Given the description of an element on the screen output the (x, y) to click on. 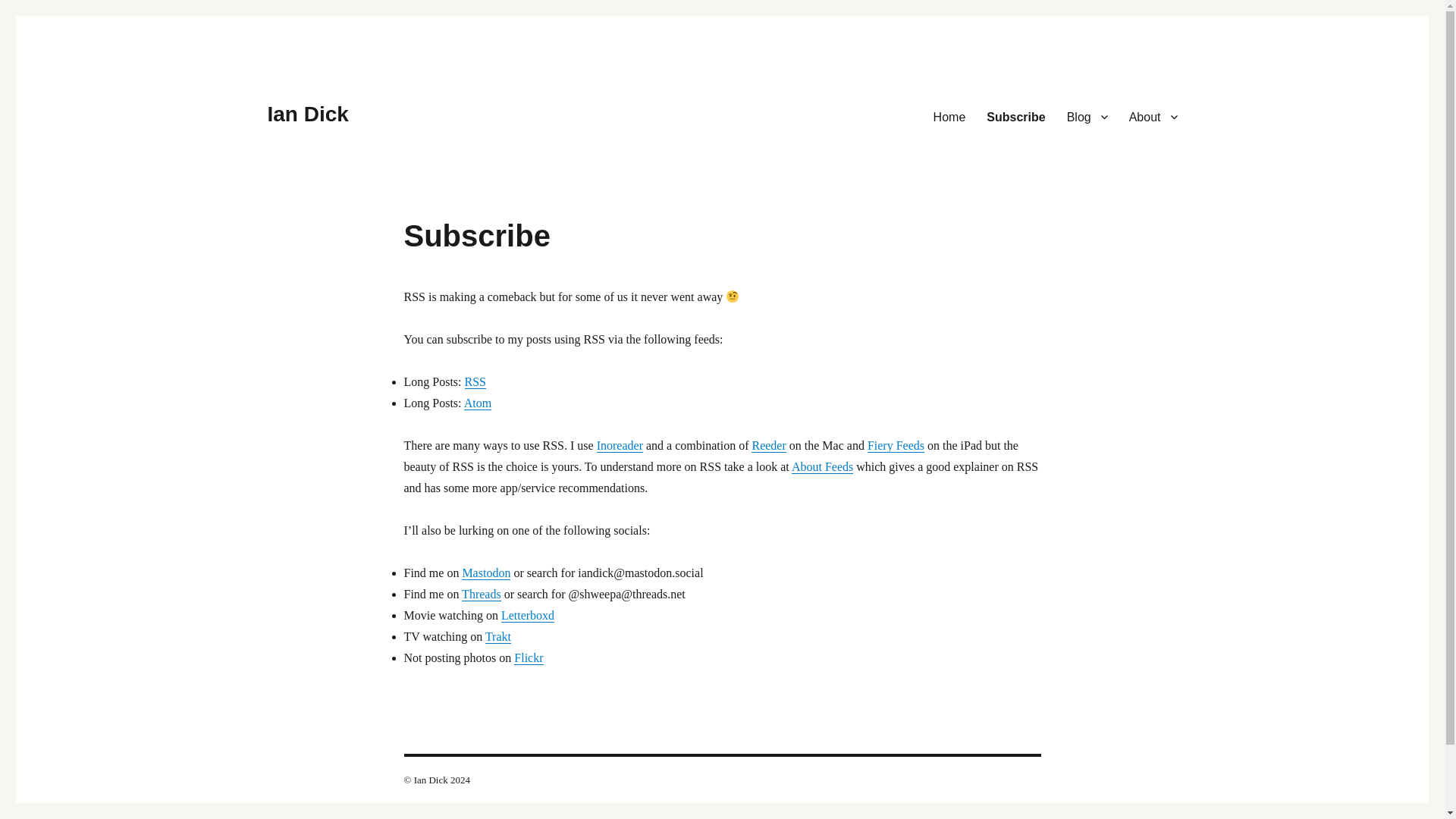
Mastodon (486, 572)
Fiery Feeds (895, 445)
Trakt (497, 635)
Home (949, 116)
Ian Dick (306, 114)
Threads (480, 594)
Reeder (768, 445)
Blog (1087, 116)
Subscribe (1015, 116)
RSS (475, 381)
